Given the description of an element on the screen output the (x, y) to click on. 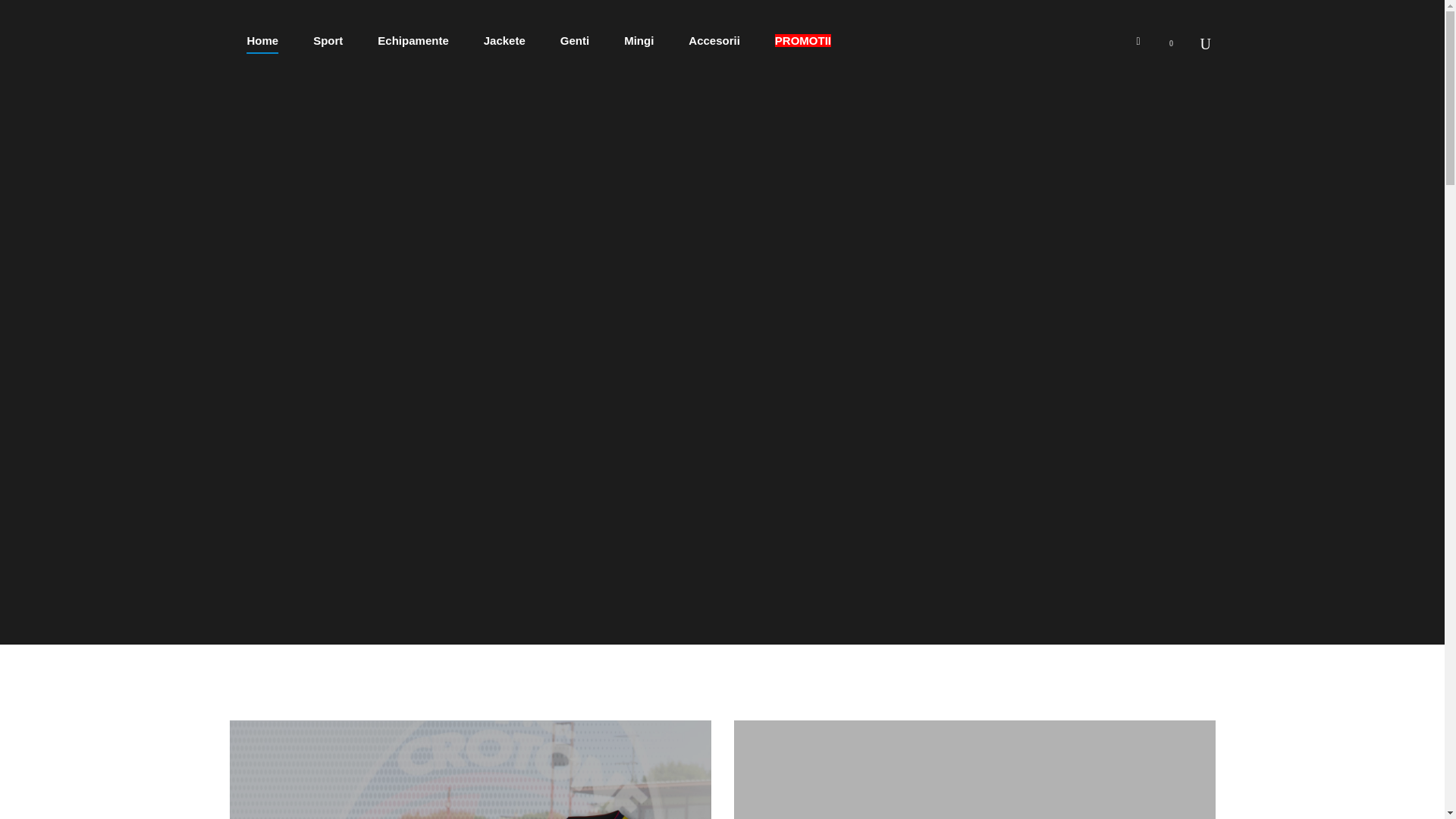
Echipamente (412, 40)
PROMOTII (802, 40)
Accesorii (714, 40)
Jackete (504, 40)
0 (1174, 39)
